Given the description of an element on the screen output the (x, y) to click on. 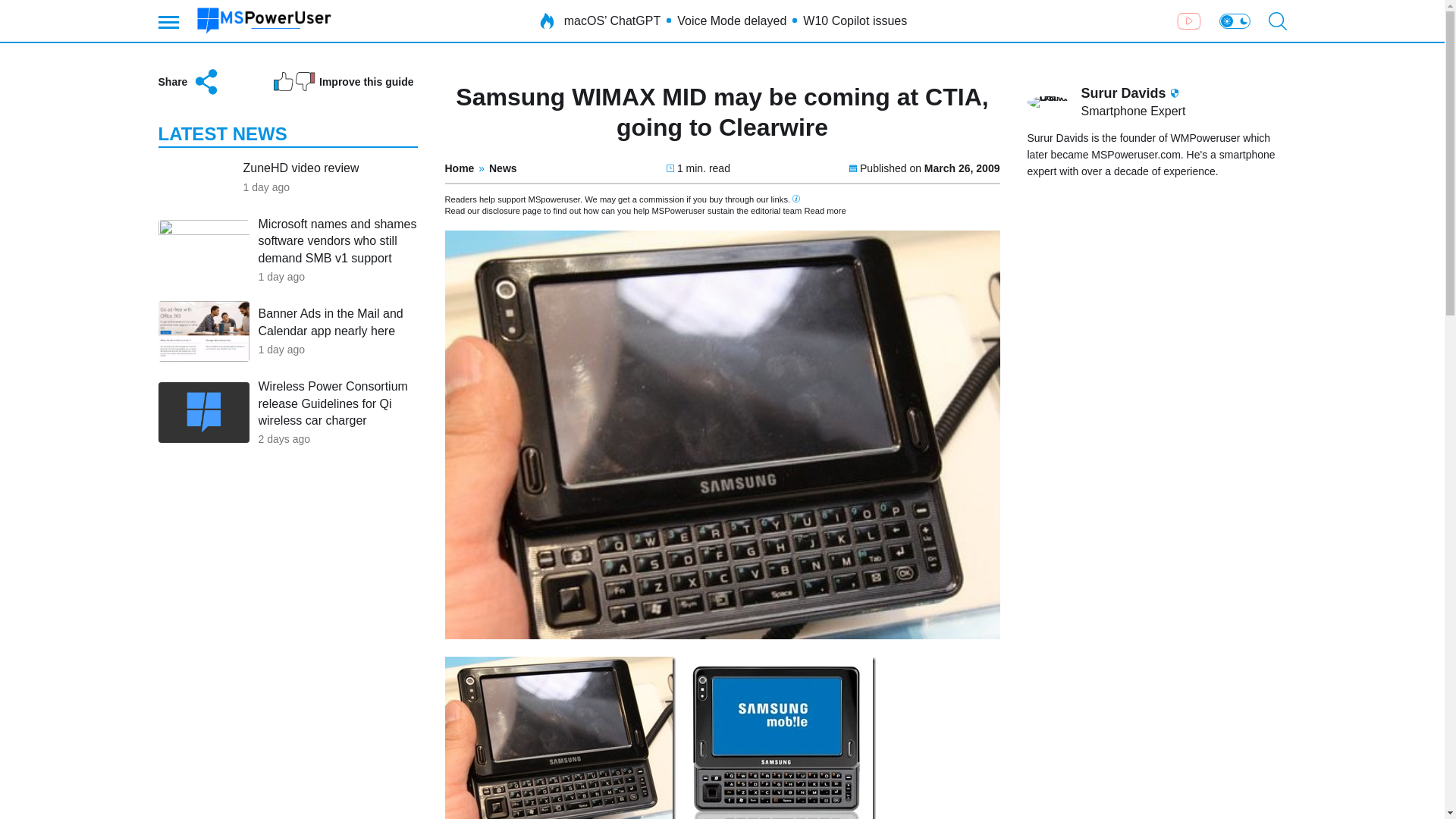
ZuneHD video review (300, 167)
Voice Mode delayed (731, 21)
Open search bar (1276, 21)
Home (459, 168)
Share (189, 81)
2-18-09-samsung-mid (559, 737)
